Given the description of an element on the screen output the (x, y) to click on. 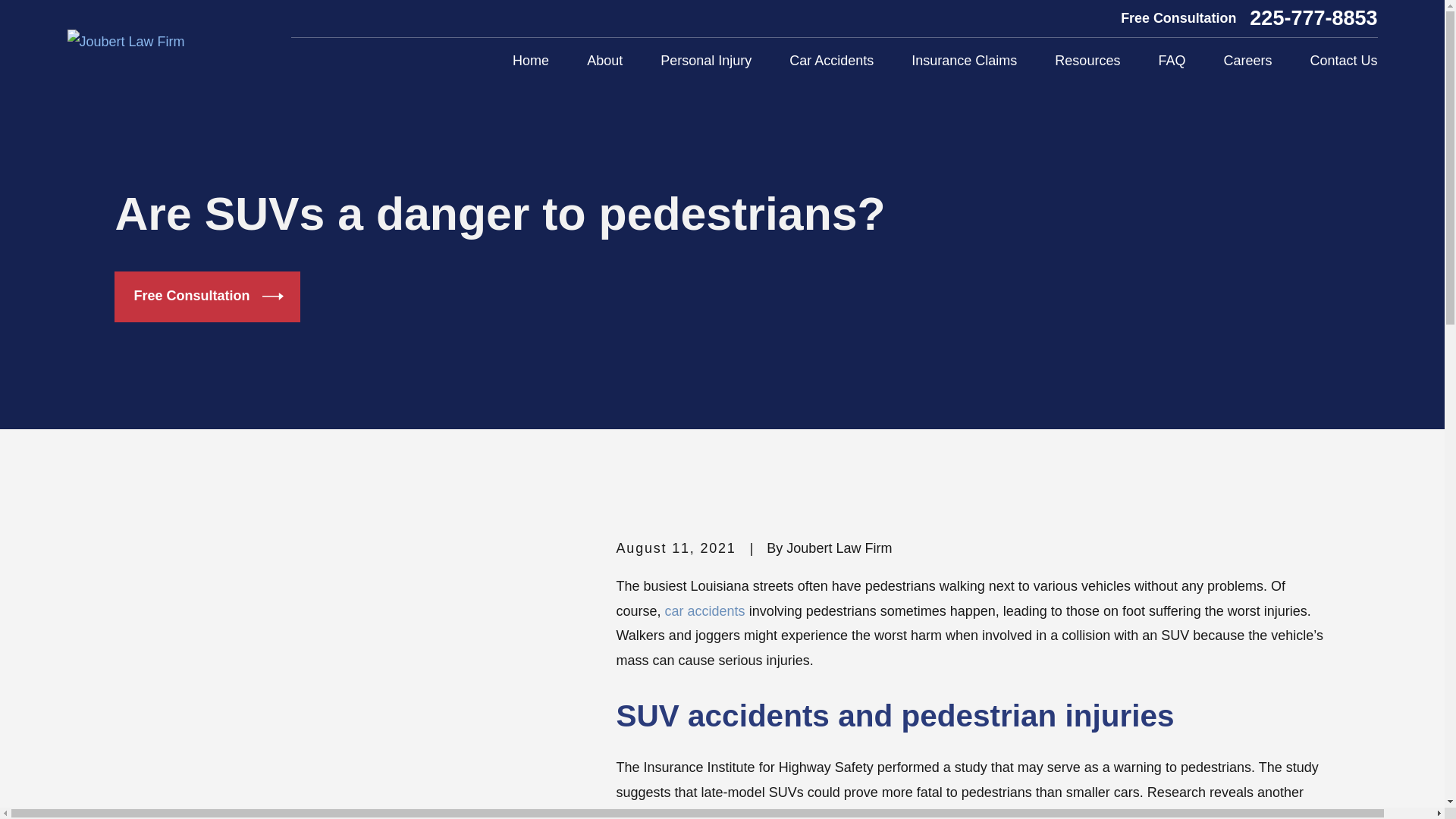
225-777-8853 (1313, 18)
Home (125, 41)
About (604, 60)
Home (530, 60)
Personal Injury (706, 60)
